Given the description of an element on the screen output the (x, y) to click on. 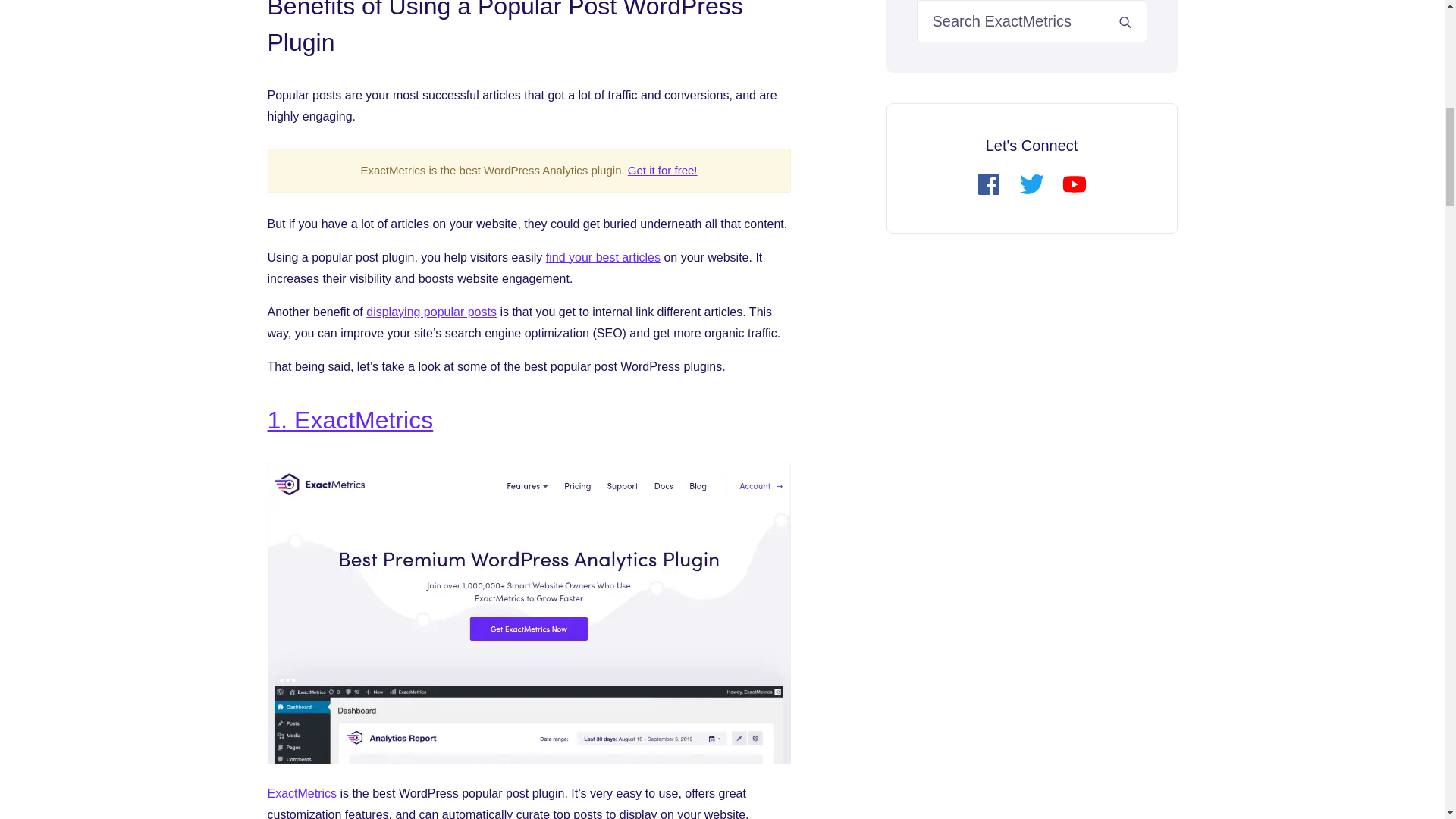
displaying popular posts (431, 311)
Get it for free! (662, 169)
ExactMetrics (301, 793)
1. ExactMetrics (349, 420)
find your best articles (603, 256)
